Given the description of an element on the screen output the (x, y) to click on. 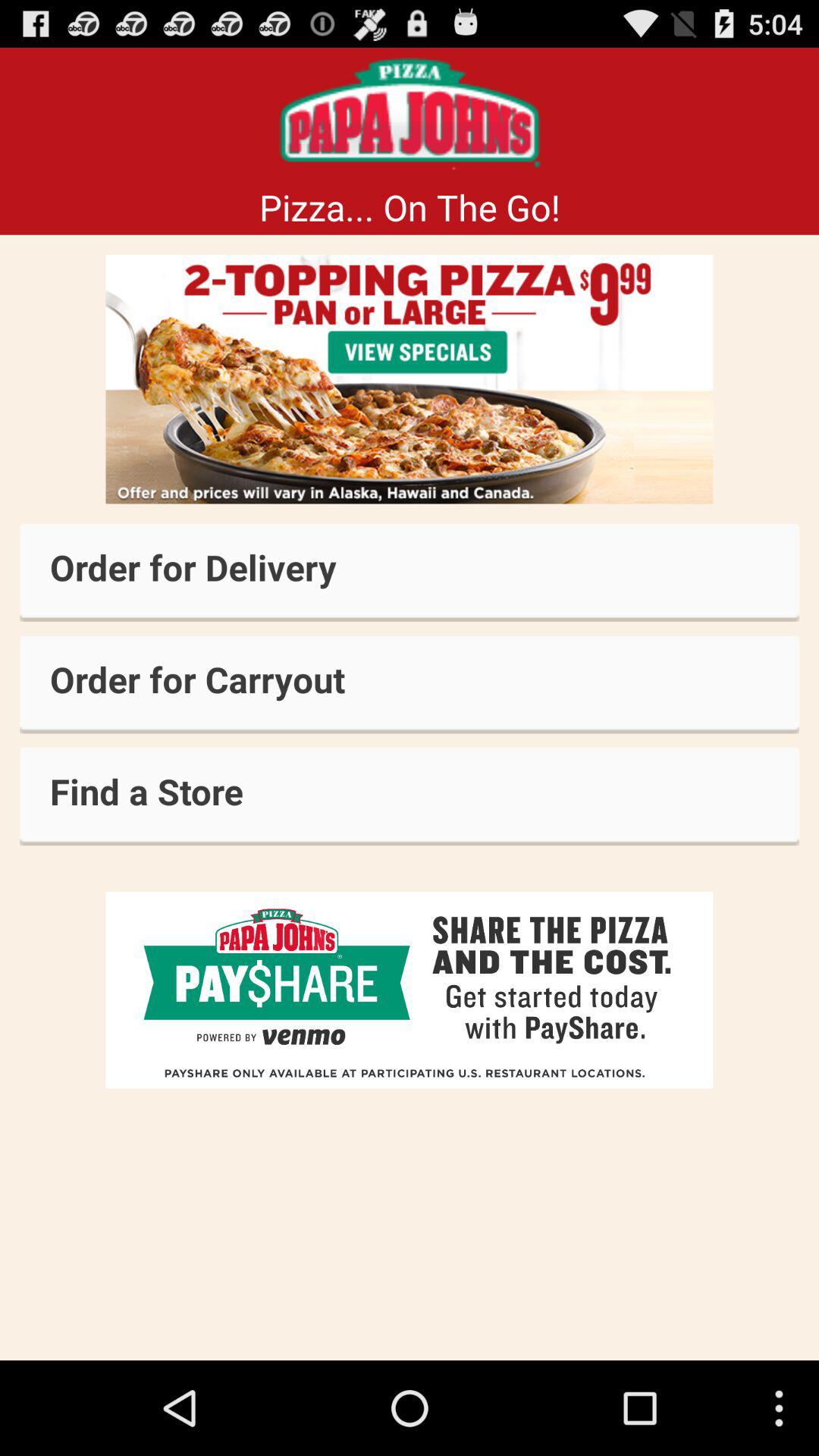
turn off the app below the pizza on the app (409, 378)
